Given the description of an element on the screen output the (x, y) to click on. 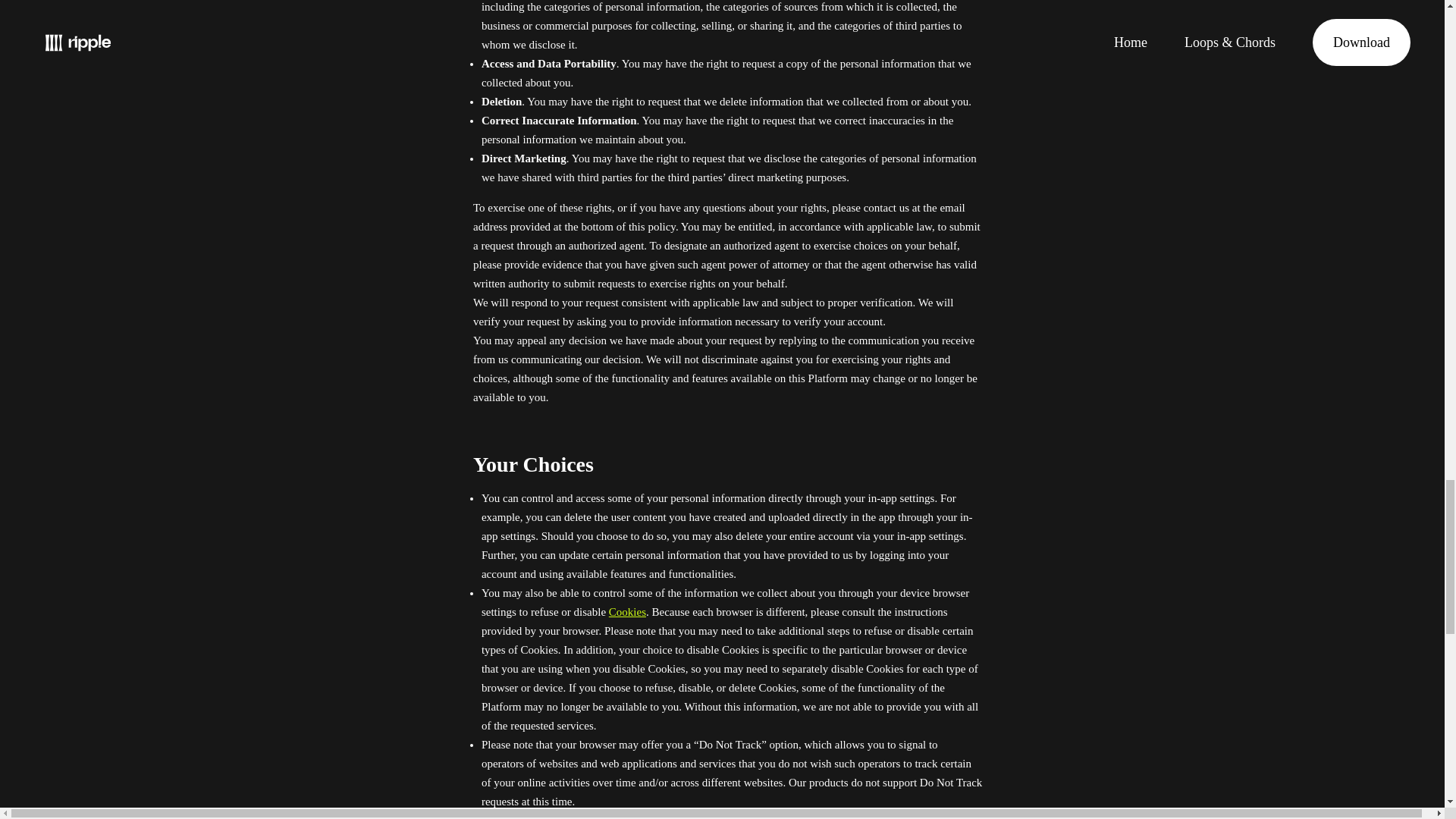
Cookies (627, 612)
